Given the description of an element on the screen output the (x, y) to click on. 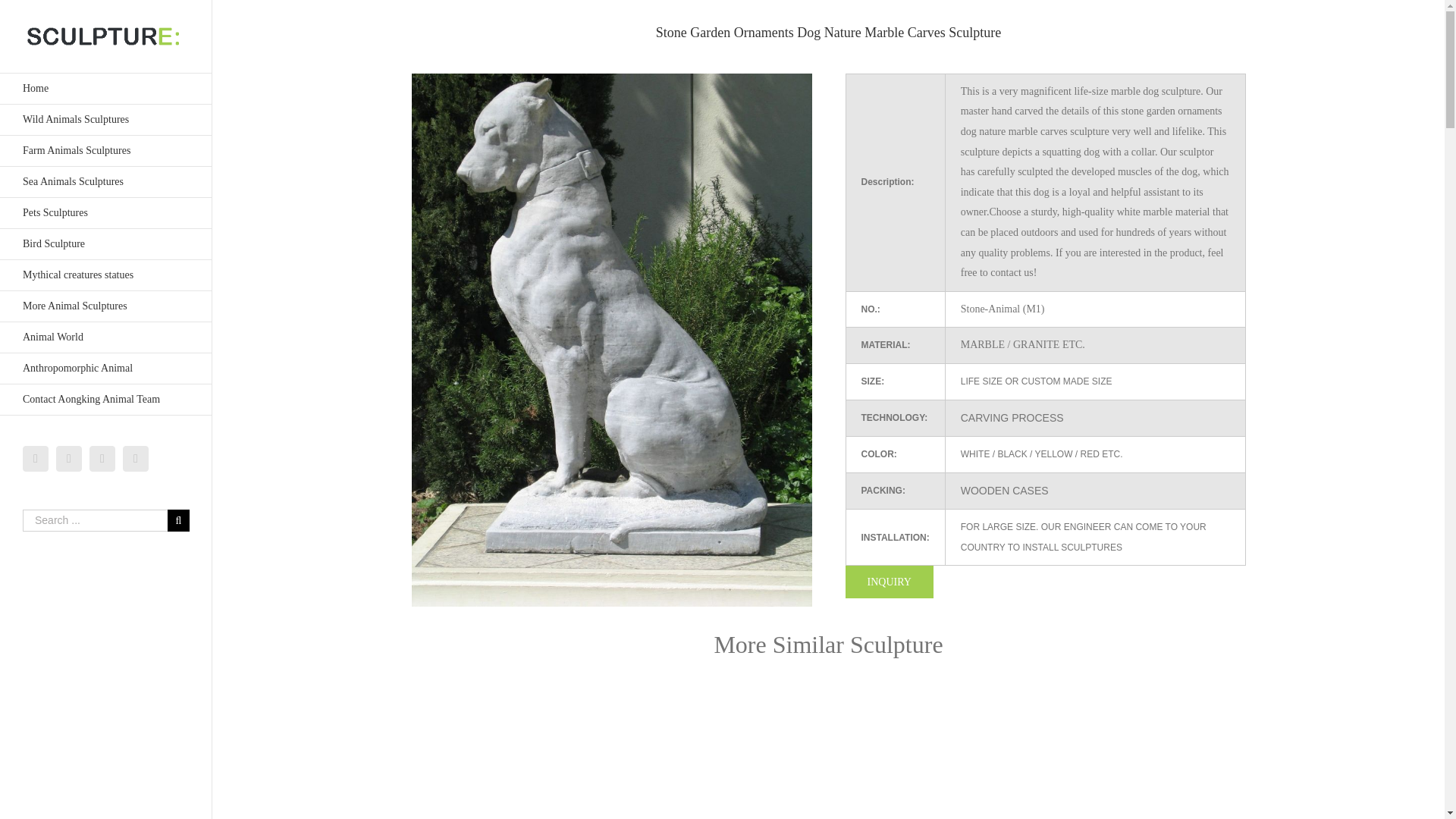
Aongking animal statues (106, 88)
Wild Animals Sculptures (106, 119)
Farm Animals Sculptures (106, 151)
Wild Animals Sculptures (106, 119)
Home (106, 88)
